Given the description of an element on the screen output the (x, y) to click on. 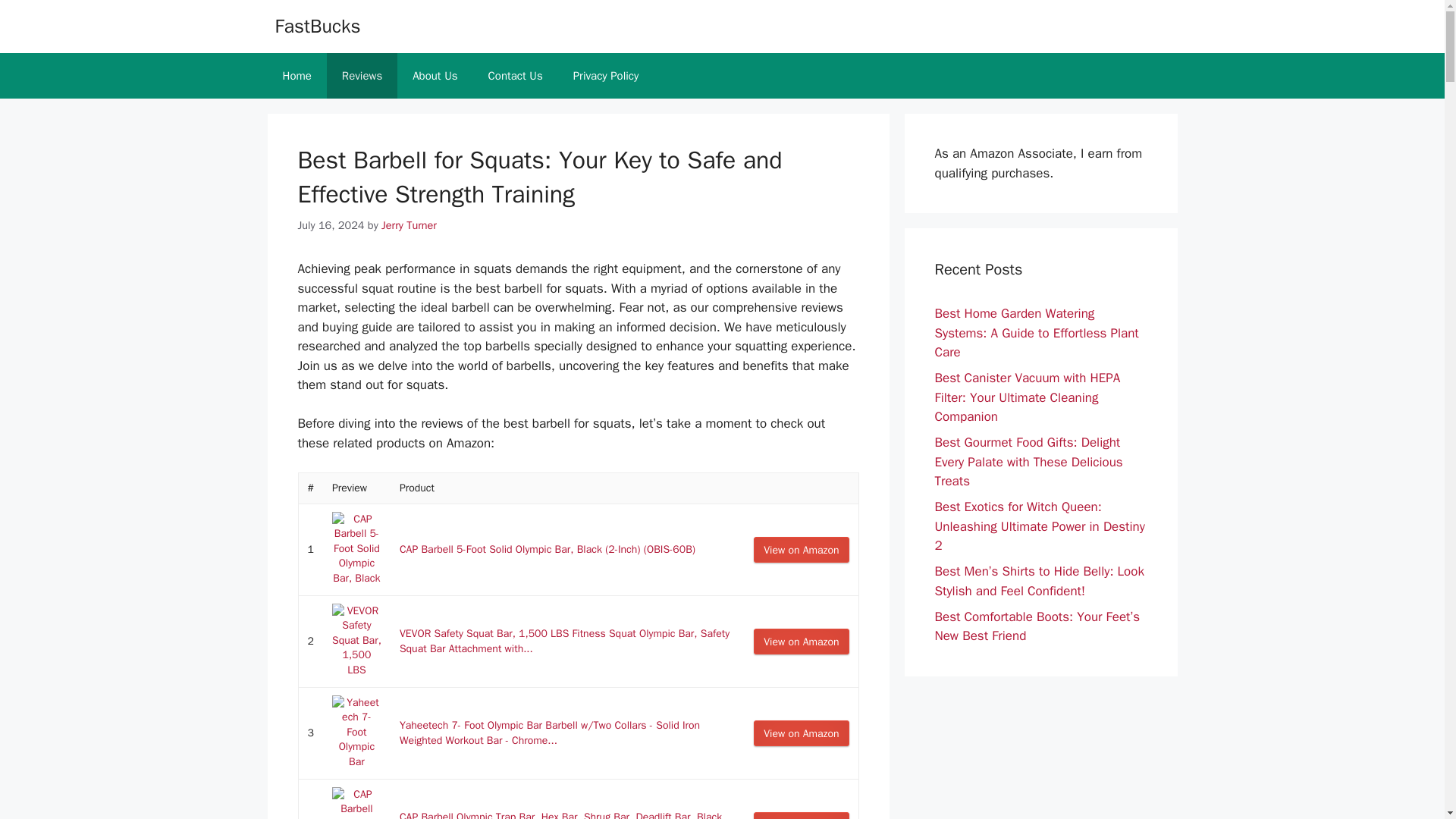
Home (296, 75)
Reviews (361, 75)
Contact Us (515, 75)
Jerry Turner (408, 224)
View on Amazon (801, 733)
FastBucks (317, 25)
View all posts by Jerry Turner (408, 224)
View on Amazon (801, 815)
View on Amazon (801, 733)
View on Amazon (801, 549)
